Given the description of an element on the screen output the (x, y) to click on. 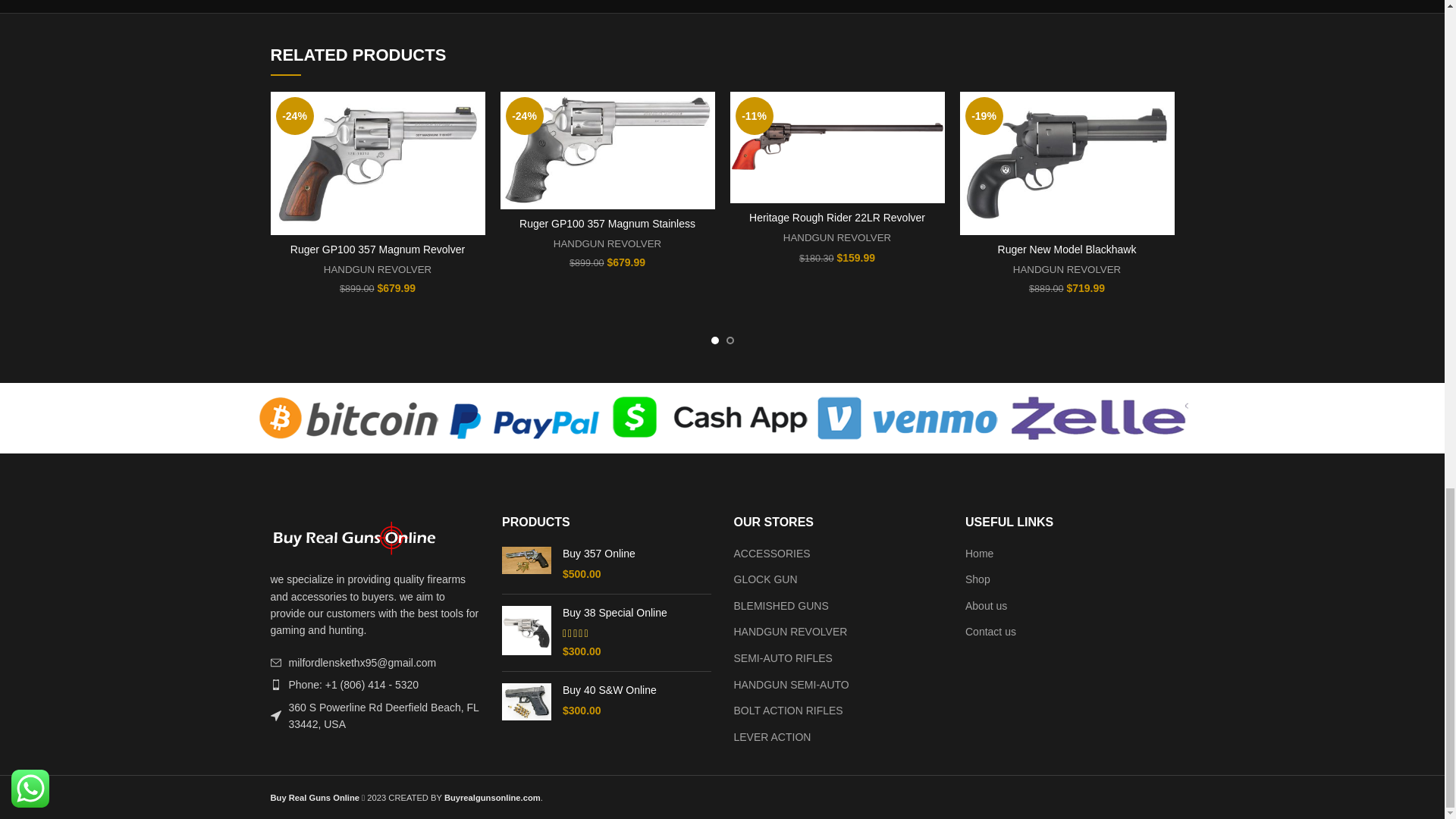
wd-cursor-light (275, 715)
Buy 357 Online (526, 564)
wd-envelope-light (275, 662)
wd-phone-light (275, 684)
buyrealg (352, 538)
